Given the description of an element on the screen output the (x, y) to click on. 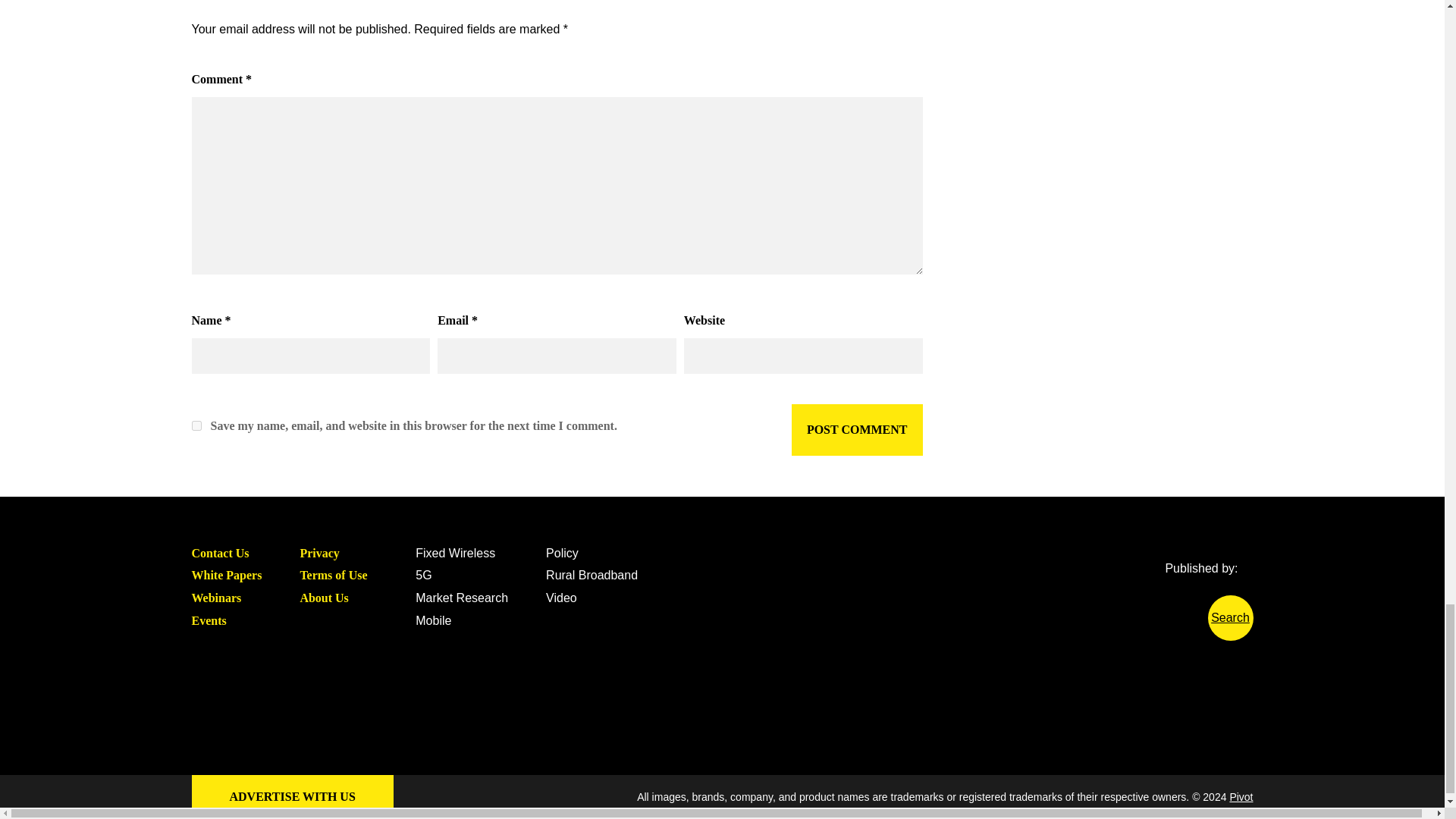
Post Comment (857, 429)
yes (195, 425)
